Given the description of an element on the screen output the (x, y) to click on. 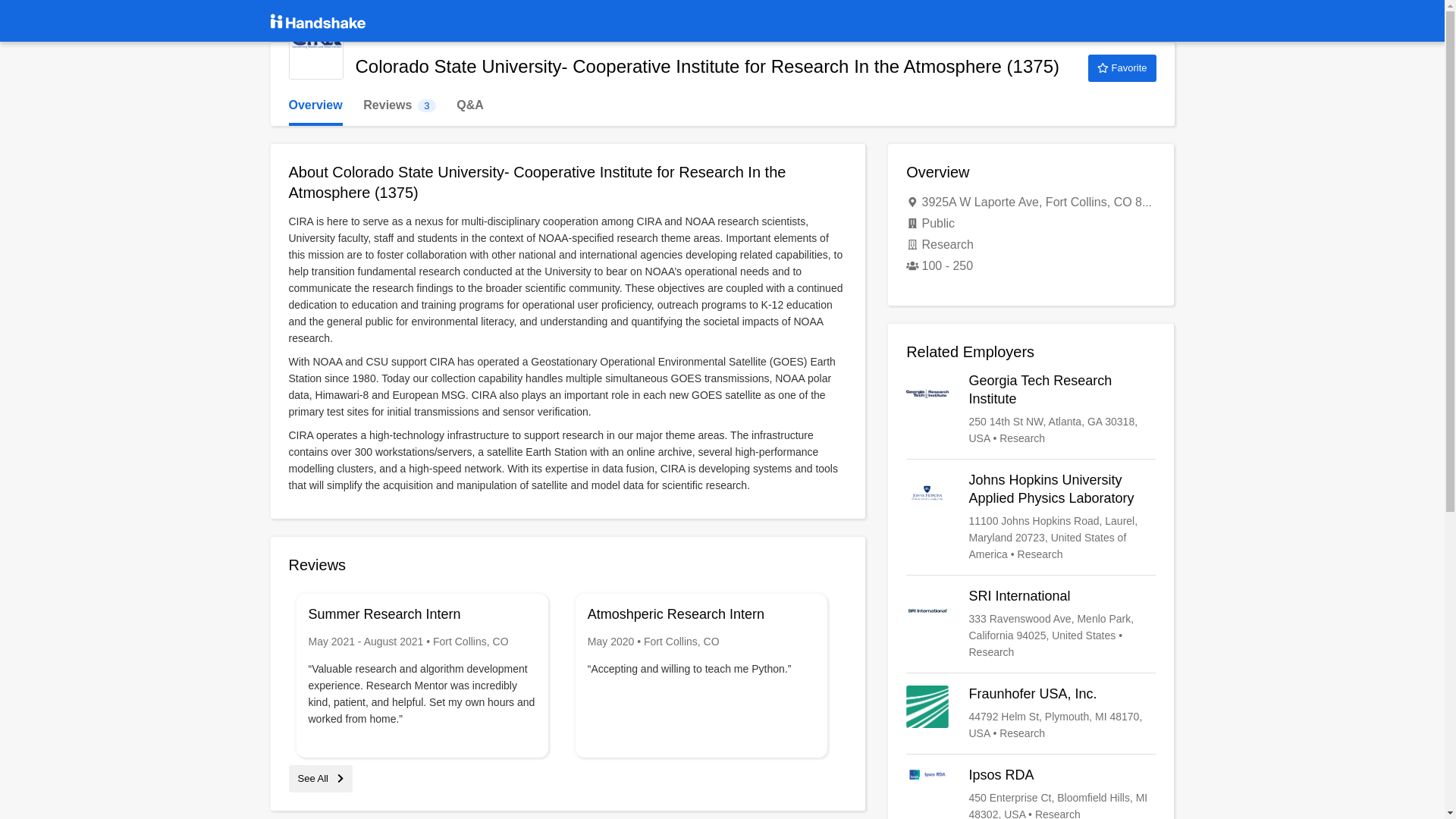
Favorite (1121, 67)
Johns Hopkins University Applied Physics Laboratory (1030, 516)
See All (320, 778)
Fraunhofer USA, Inc. (1030, 713)
Georgia Tech Research Institute (1030, 409)
Overview (315, 105)
SRI International (1030, 624)
Ipsos RDA (398, 105)
